Given the description of an element on the screen output the (x, y) to click on. 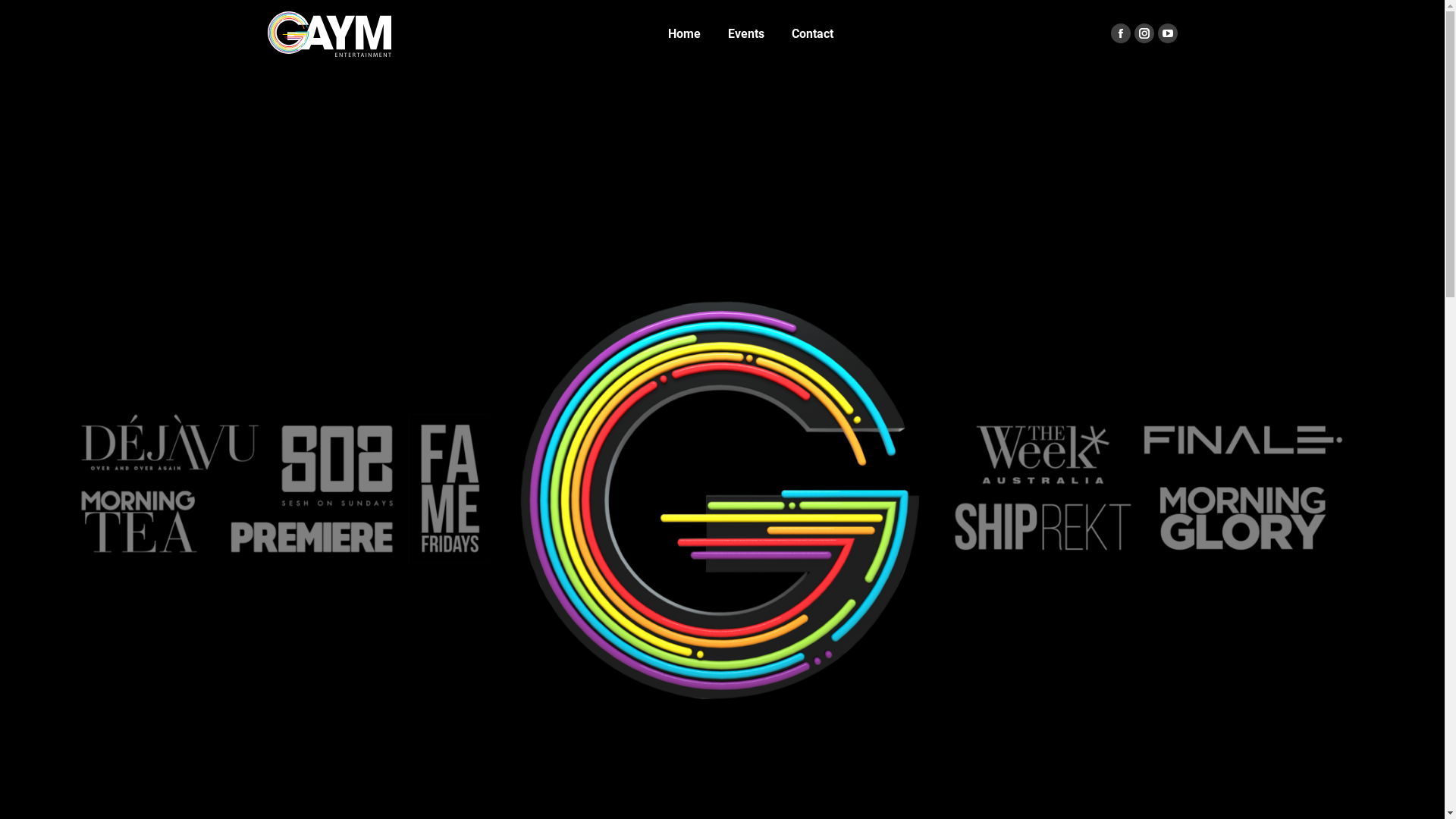
Instagram page opens in new window Element type: hover (1144, 33)
Facebook page opens in new window Element type: hover (1119, 33)
Home Element type: text (684, 33)
YouTube page opens in new window Element type: hover (1166, 33)
Events Element type: text (745, 33)
Contact Element type: text (812, 33)
